Given the description of an element on the screen output the (x, y) to click on. 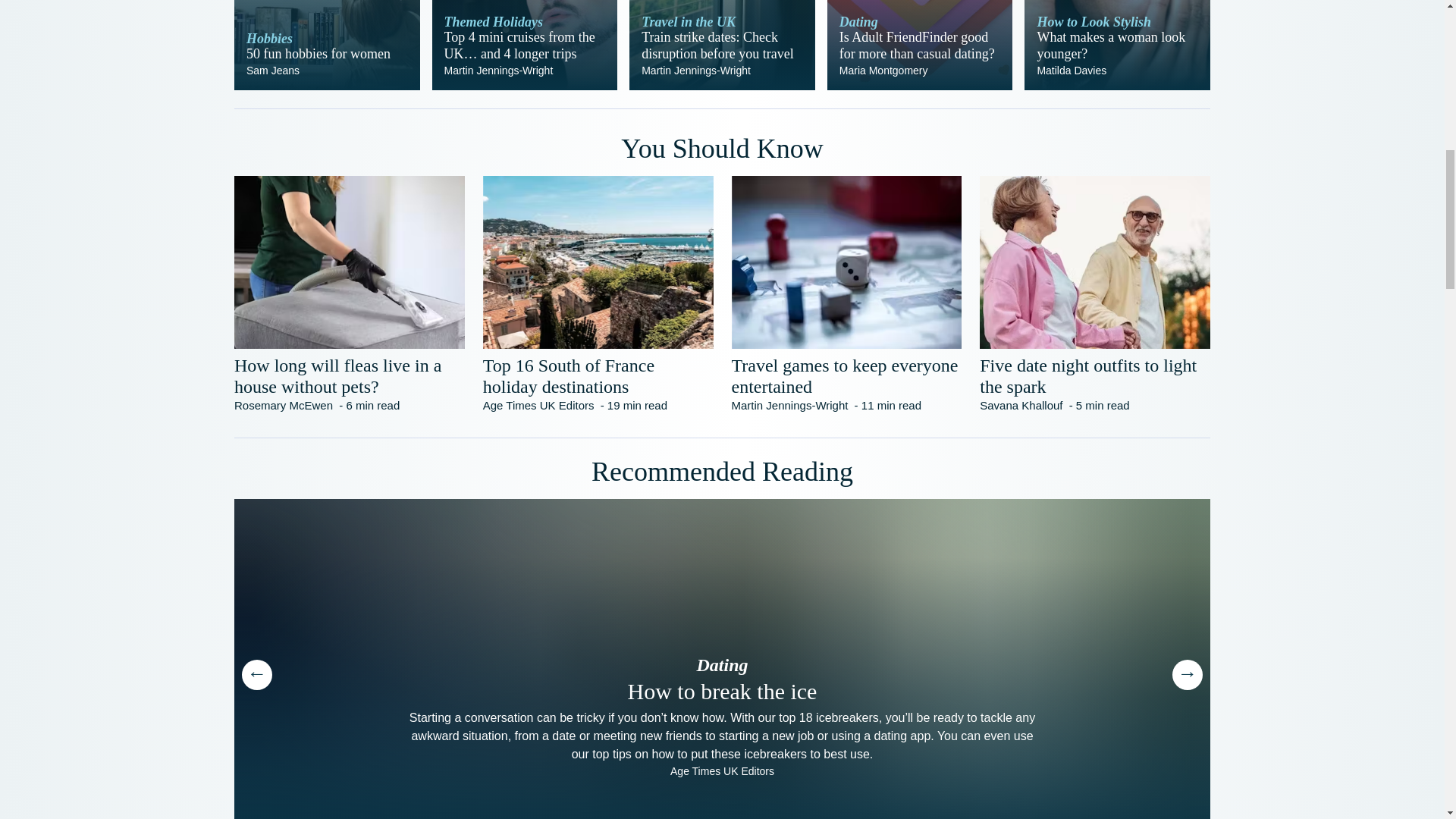
How long will fleas live in a house without pets? (349, 375)
Top 16 South of France holiday destinations (598, 375)
Travel games to keep everyone entertained (845, 375)
Five date night outfits to light the spark (327, 45)
